Given the description of an element on the screen output the (x, y) to click on. 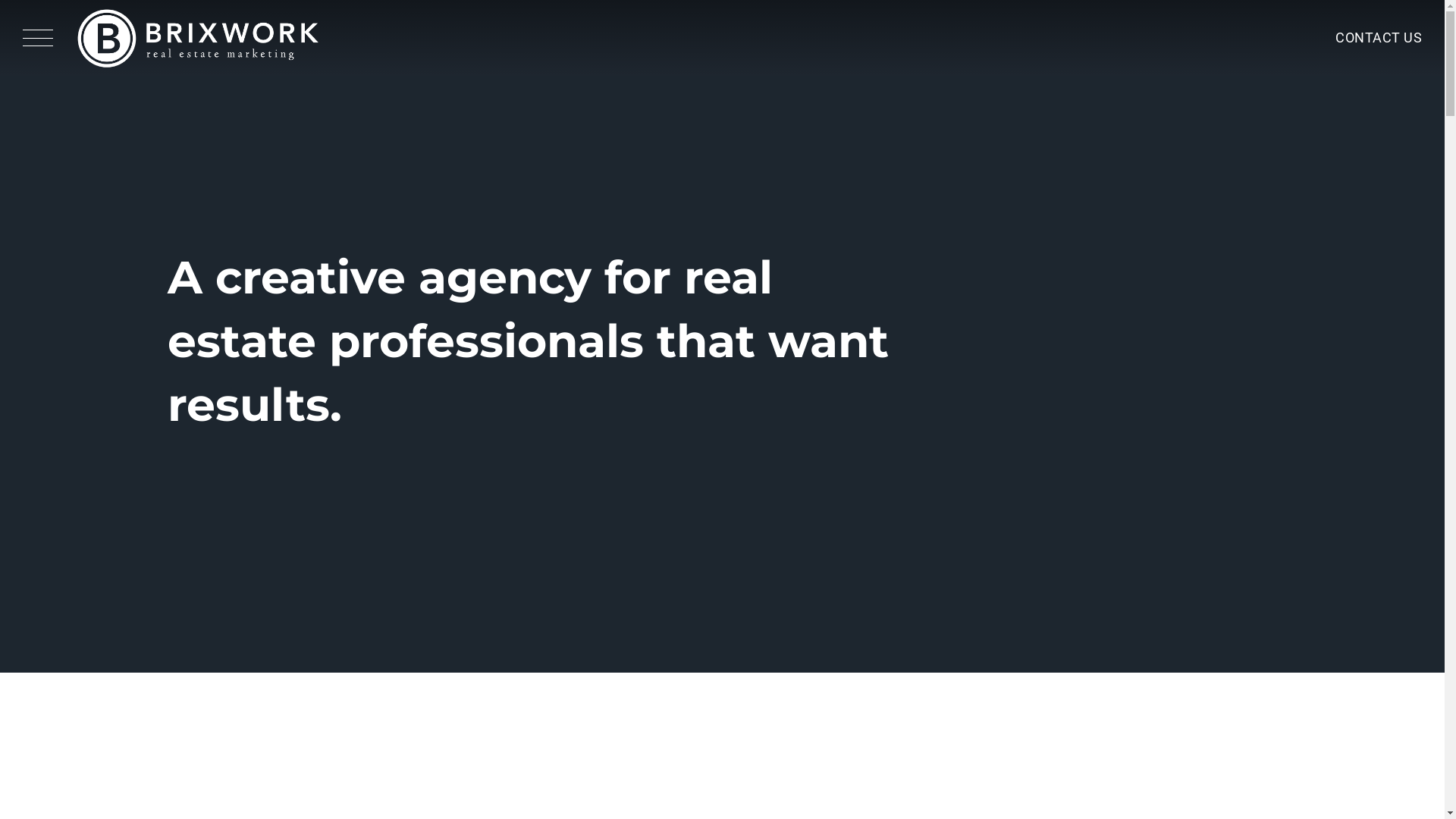
CONTACT US Element type: text (1378, 37)
